Given the description of an element on the screen output the (x, y) to click on. 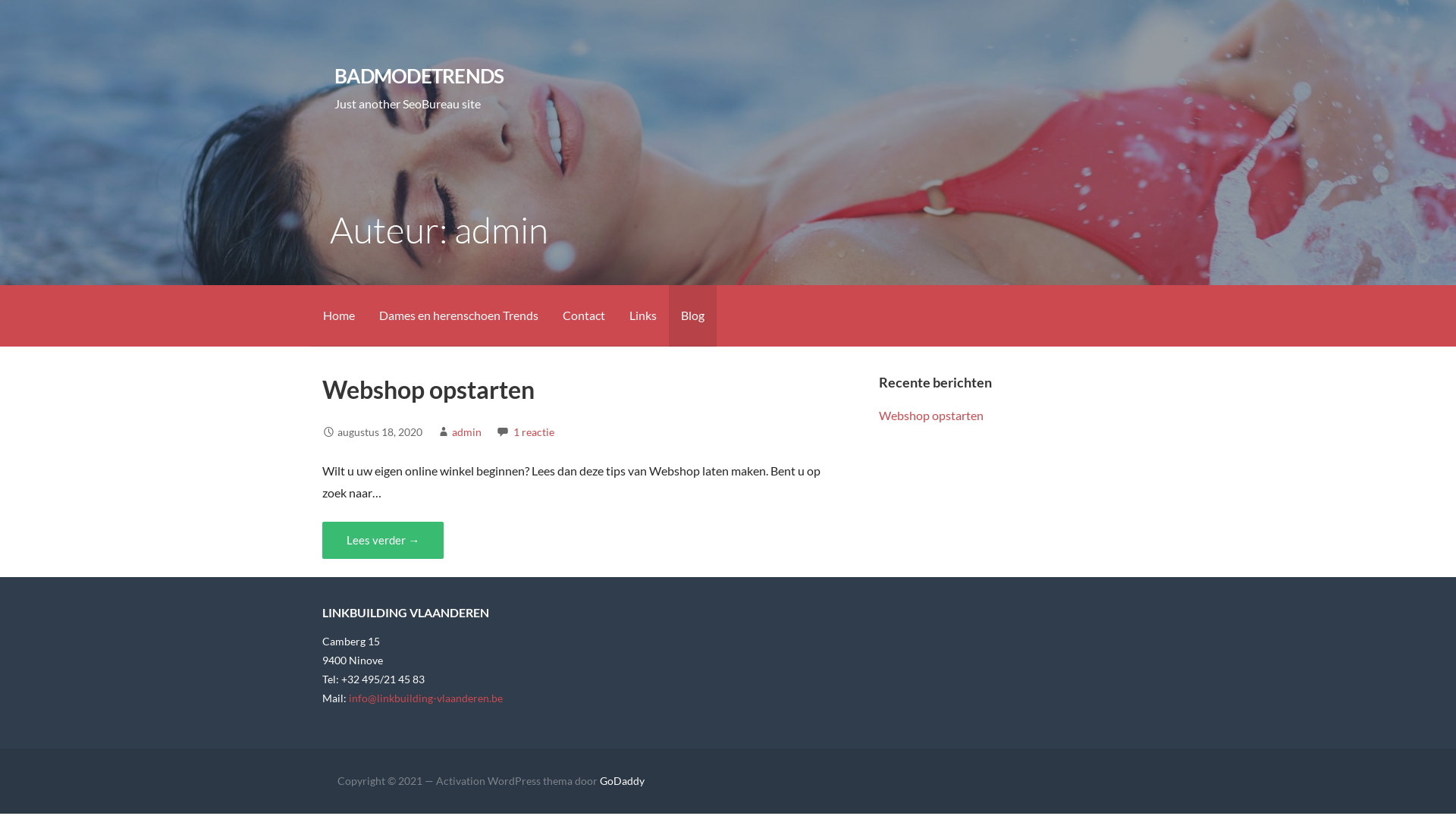
Blog Element type: text (692, 315)
admin Element type: text (466, 431)
Contact Element type: text (583, 315)
Dames en herenschoen Trends Element type: text (458, 315)
GoDaddy Element type: text (621, 780)
info@linkbuilding-vlaanderen.be Element type: text (424, 697)
Webshop opstarten Element type: text (930, 414)
Links Element type: text (642, 315)
Webshop opstarten Element type: text (428, 389)
1 reactie Element type: text (533, 431)
Home Element type: text (338, 315)
BADMODETRENDS Element type: text (418, 75)
